Given the description of an element on the screen output the (x, y) to click on. 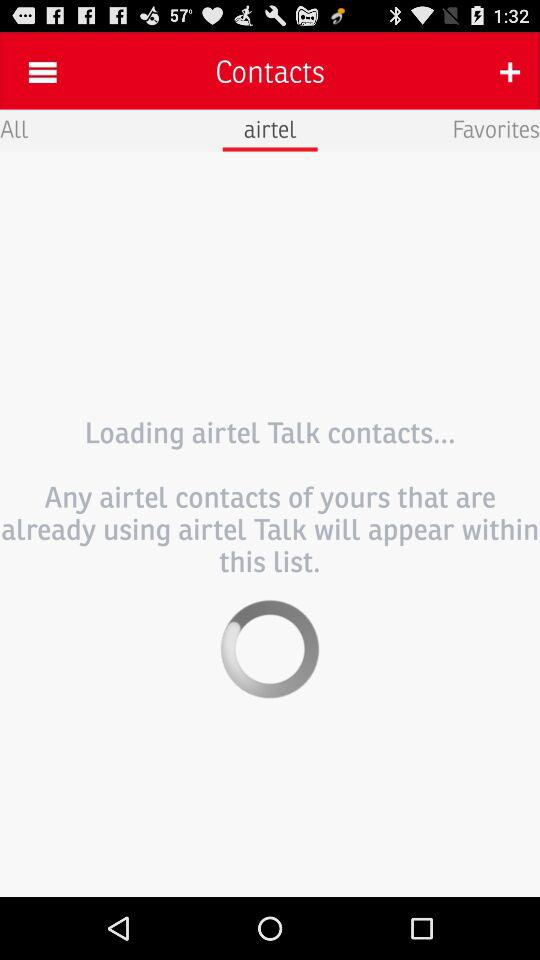
launch all icon (14, 128)
